Given the description of an element on the screen output the (x, y) to click on. 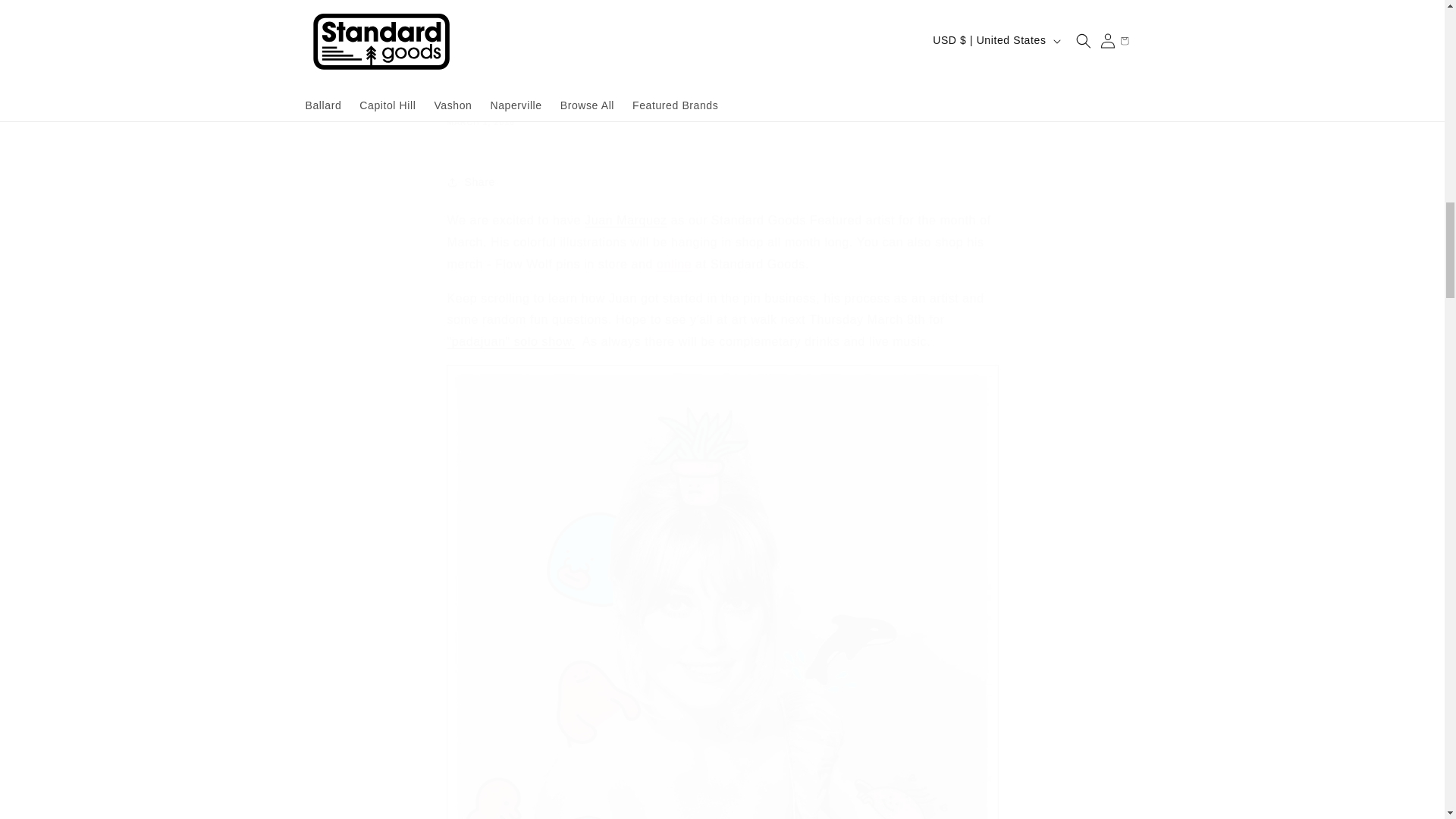
online (673, 264)
"padajuan" solo show. (510, 341)
Share (721, 182)
Juan Marquez (625, 219)
